Given the description of an element on the screen output the (x, y) to click on. 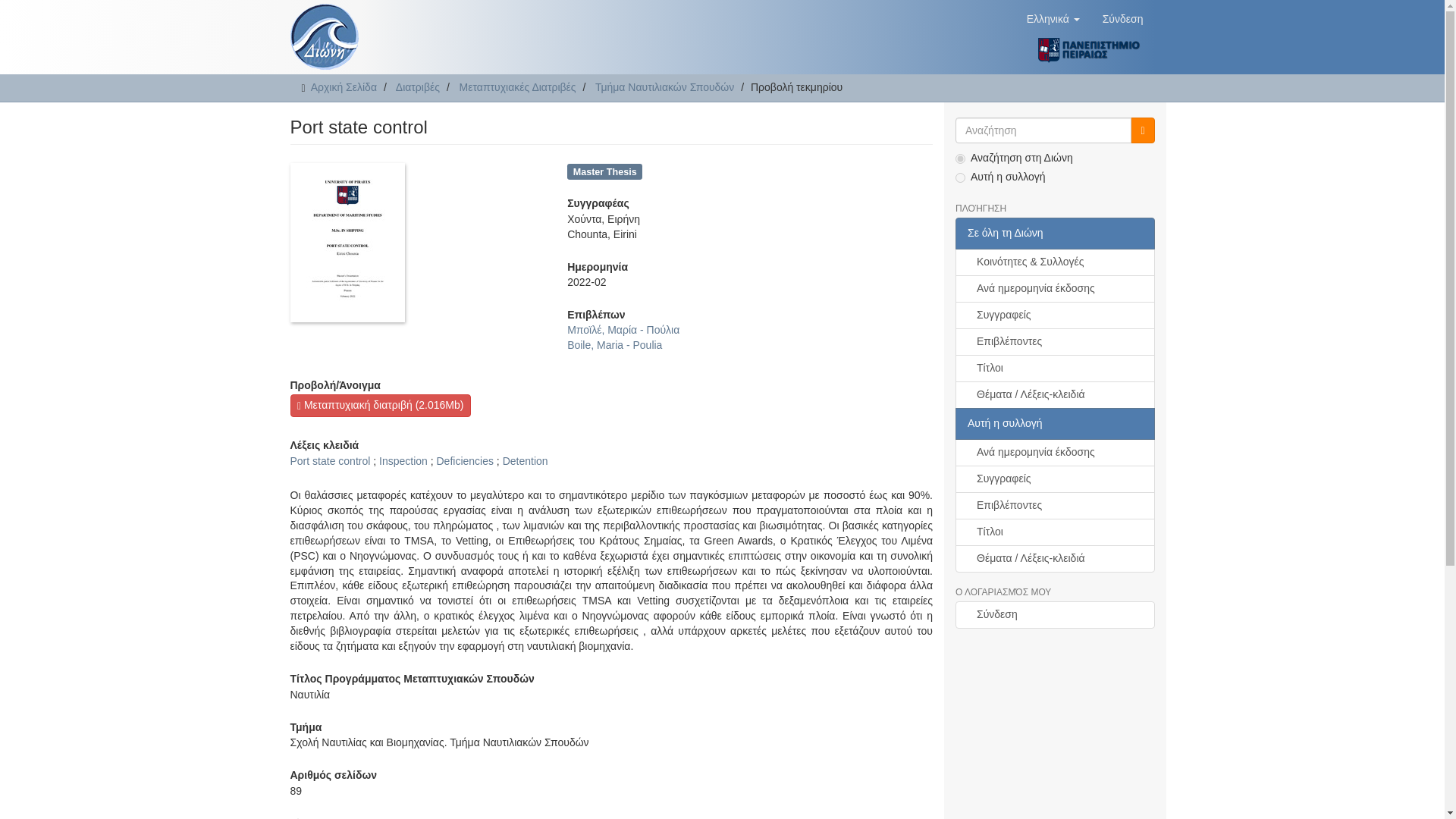
Inspection (403, 460)
Port state control (329, 460)
Boile, Maria - Poulia (614, 345)
Detention (525, 460)
Deficiencies (464, 460)
